Given the description of an element on the screen output the (x, y) to click on. 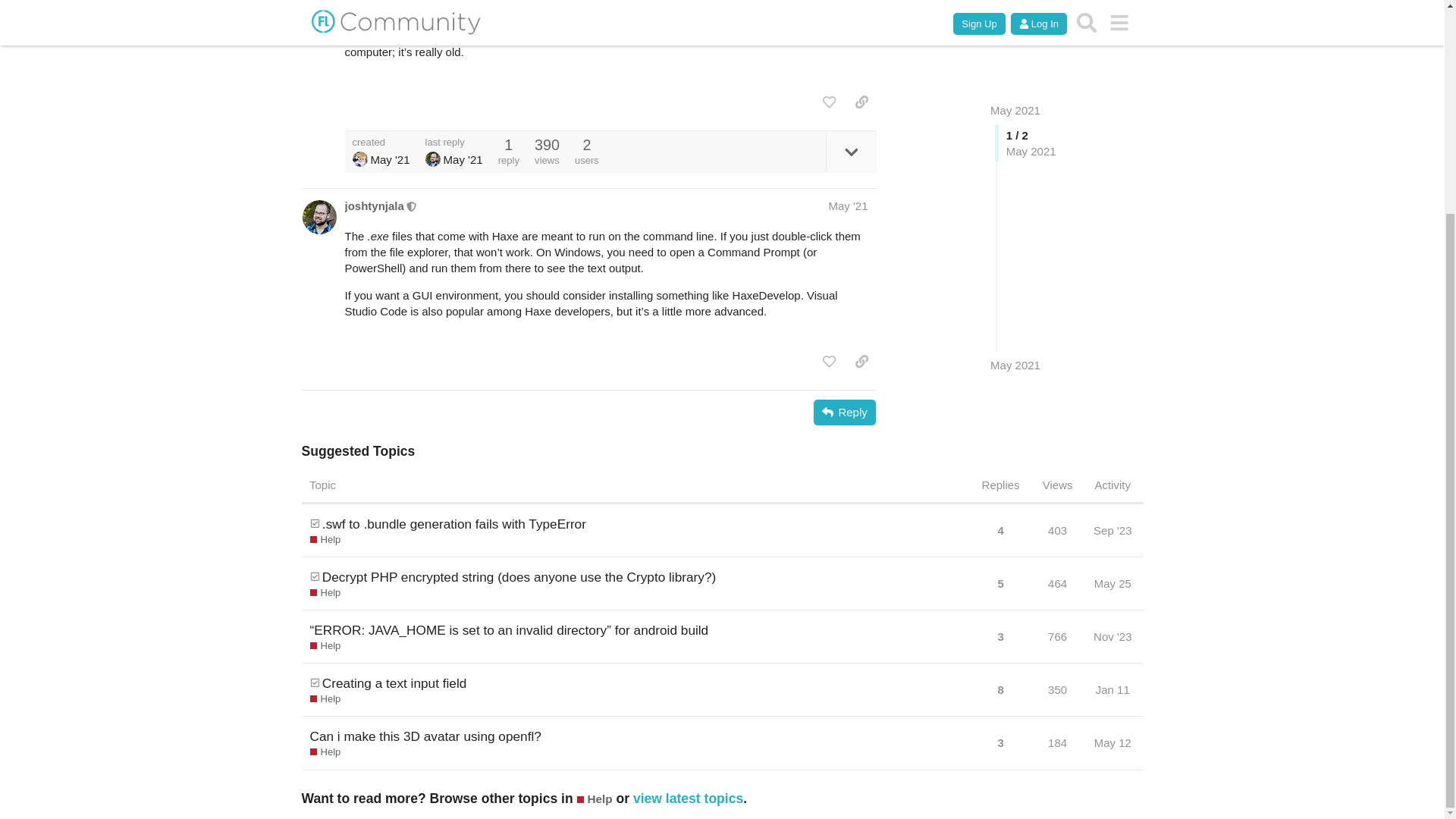
share a link to this post (861, 102)
Josh Tynjala (433, 159)
like this post (829, 102)
expand topic details (850, 151)
May '21 (847, 205)
Post date (847, 205)
Sep '23 (1112, 529)
May 2021 (1015, 198)
joshtynjala (373, 205)
May 2021 (1015, 198)
.swf to .bundle generation fails with TypeError (453, 523)
Help (324, 540)
May 22, 2021 12:46 am (463, 159)
last reply (454, 142)
This user is a moderator (411, 205)
